Given the description of an element on the screen output the (x, y) to click on. 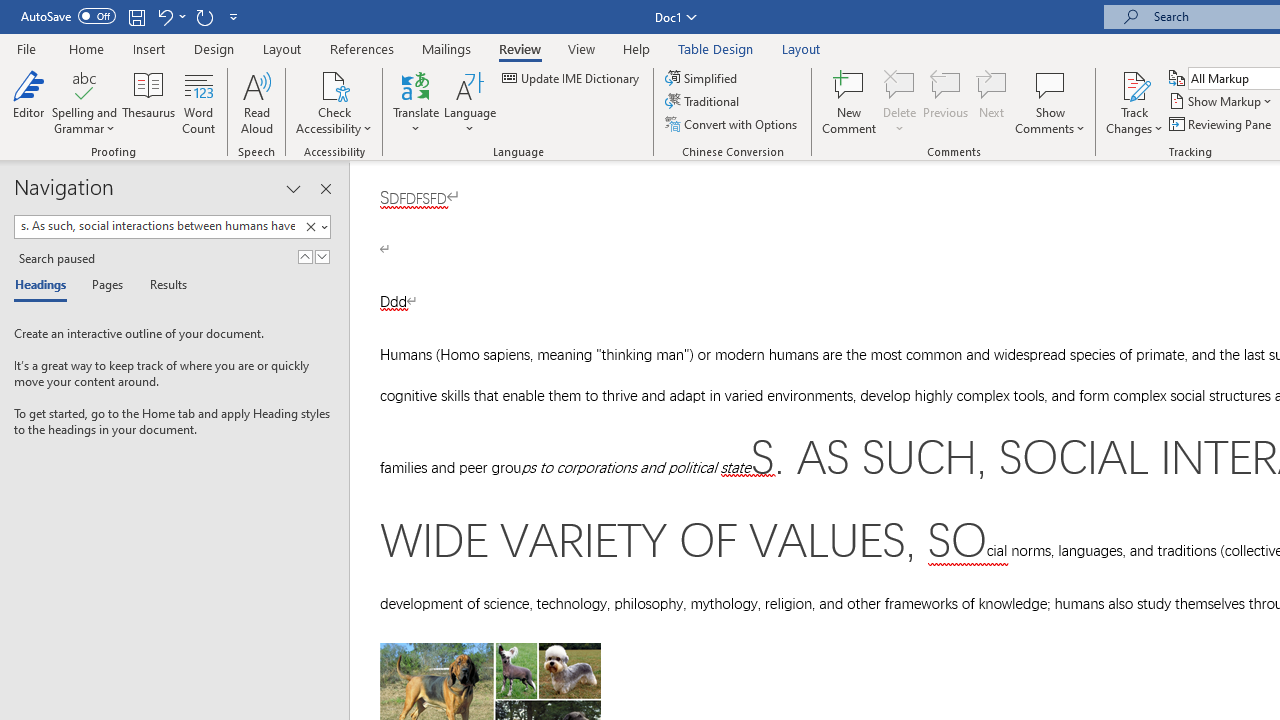
Translate (415, 102)
Track Changes (1134, 102)
Simplified (702, 78)
Reviewing Pane (1221, 124)
Spelling and Grammar (84, 84)
Next Result (322, 256)
